Given the description of an element on the screen output the (x, y) to click on. 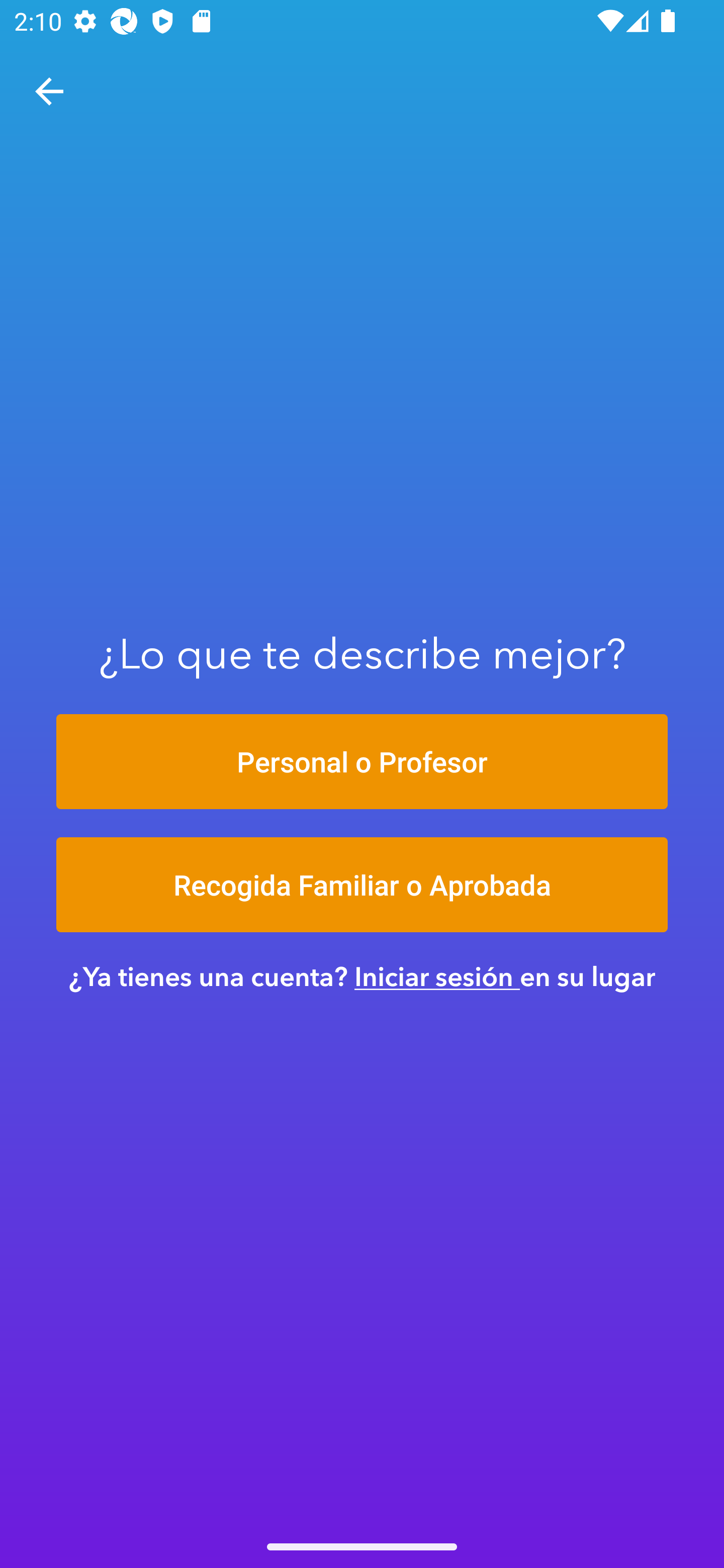
Navegar hacia arriba (49, 91)
Personal o Profesor (361, 761)
Recogida Familiar o Aprobada (361, 884)
¿Ya tienes una cuenta? Iniciar sesión en su lugar (361, 975)
